Given the description of an element on the screen output the (x, y) to click on. 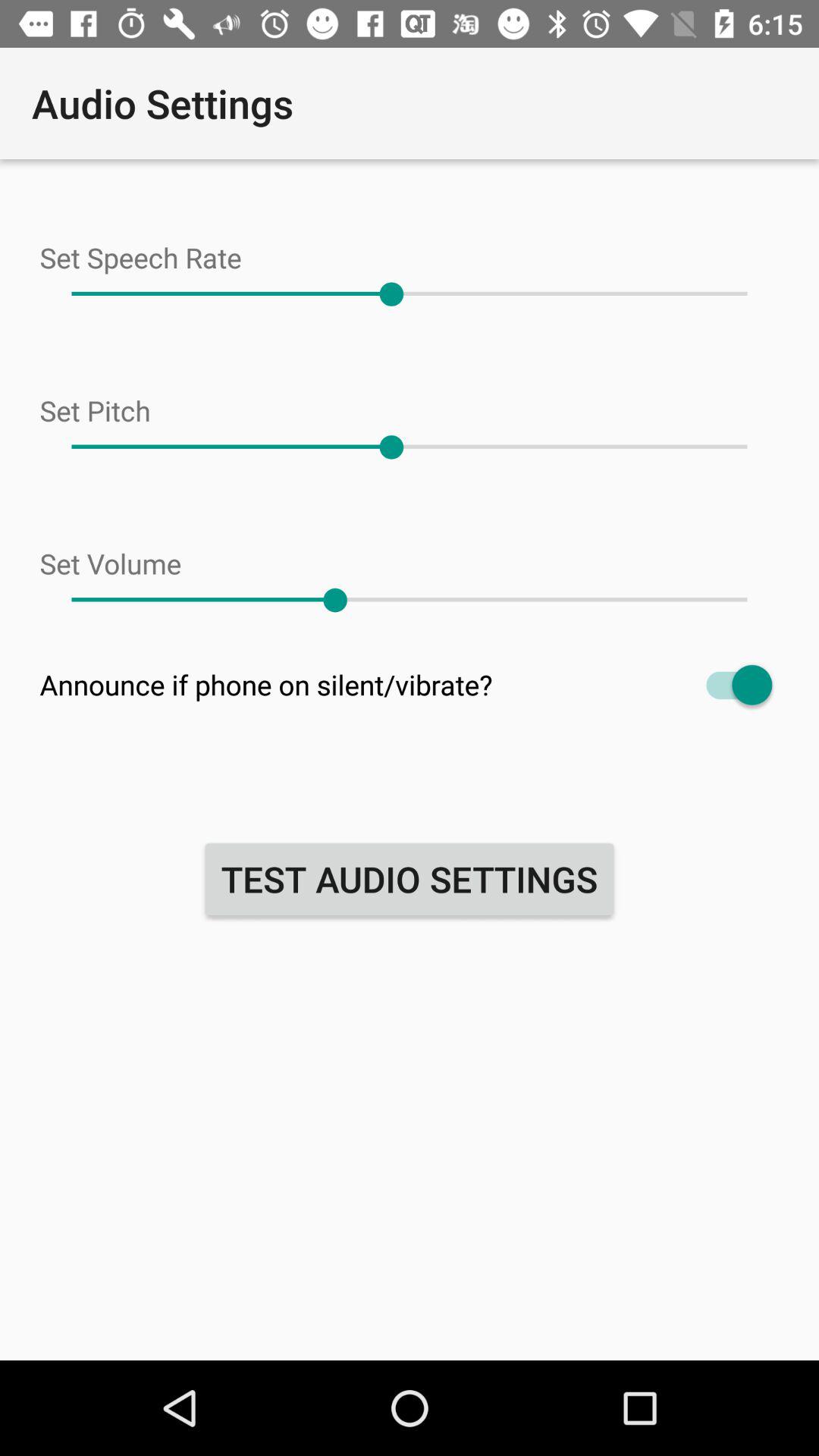
scroll until the announce if phone item (409, 685)
